Given the description of an element on the screen output the (x, y) to click on. 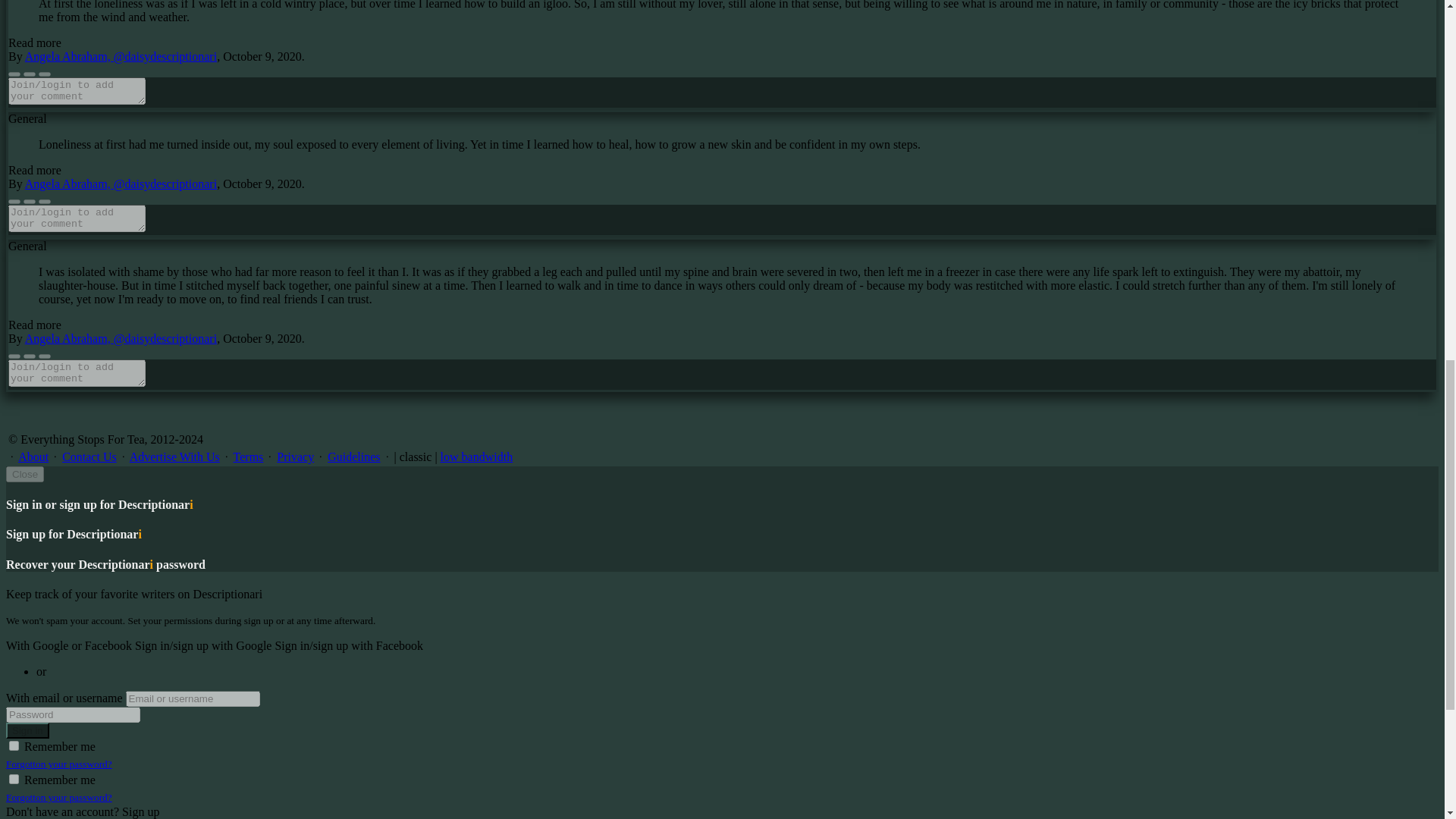
1 (13, 746)
1 (13, 778)
Read more (34, 42)
Read more (34, 169)
